Given the description of an element on the screen output the (x, y) to click on. 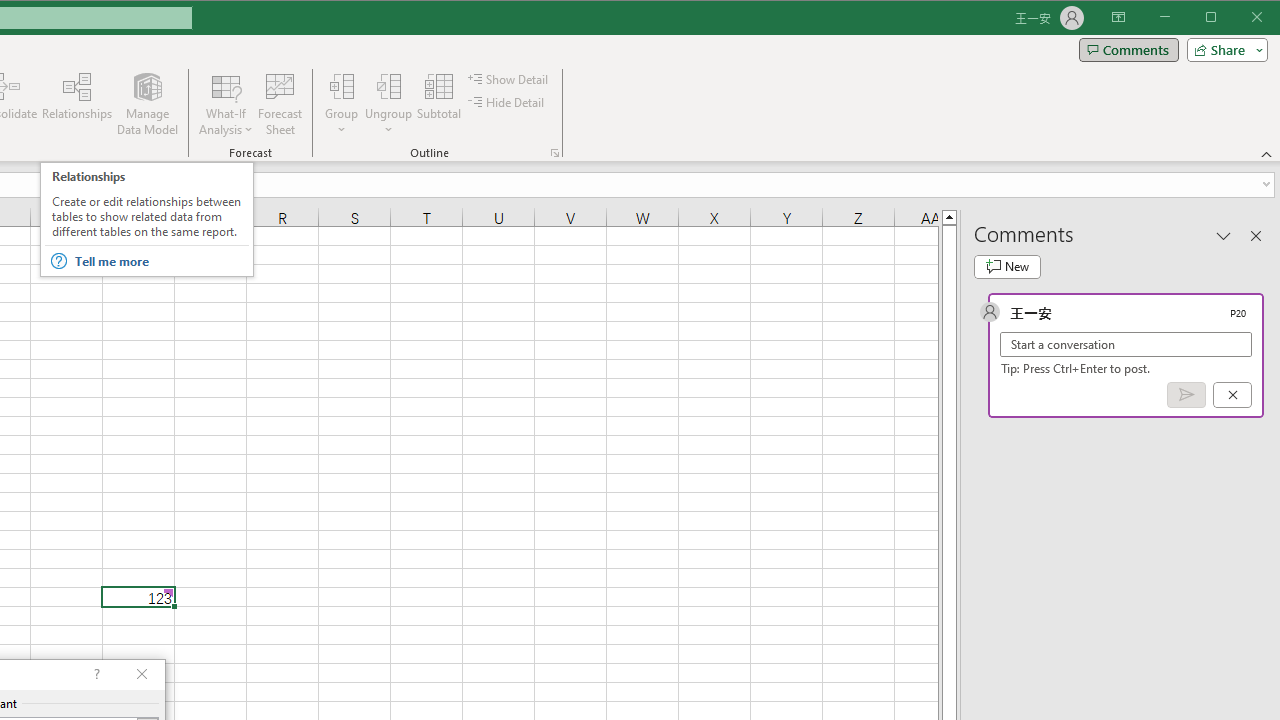
Maximize (1239, 18)
Cancel (1232, 395)
New comment (1007, 266)
